Given the description of an element on the screen output the (x, y) to click on. 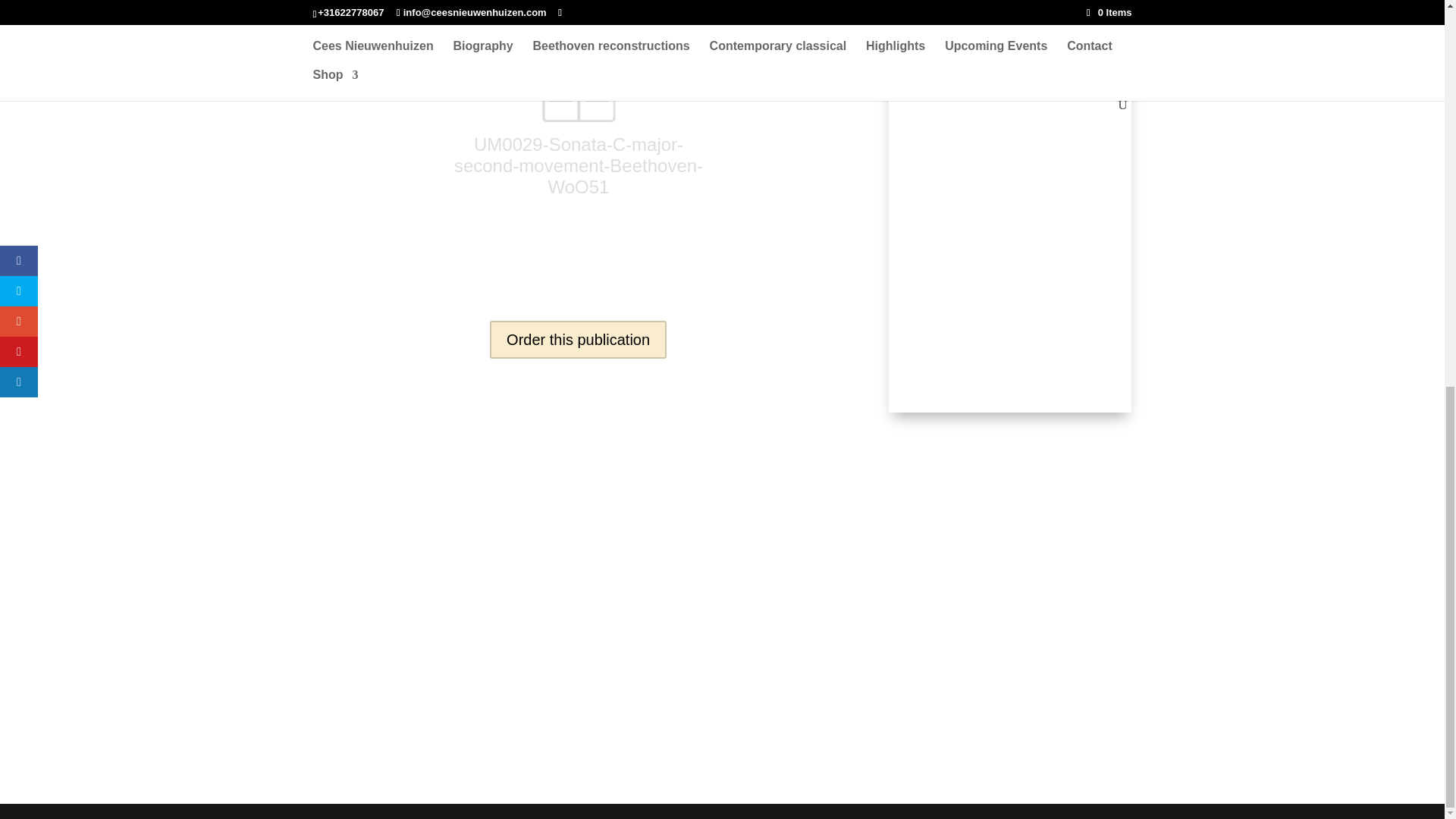
Order this publication (577, 339)
